Given the description of an element on the screen output the (x, y) to click on. 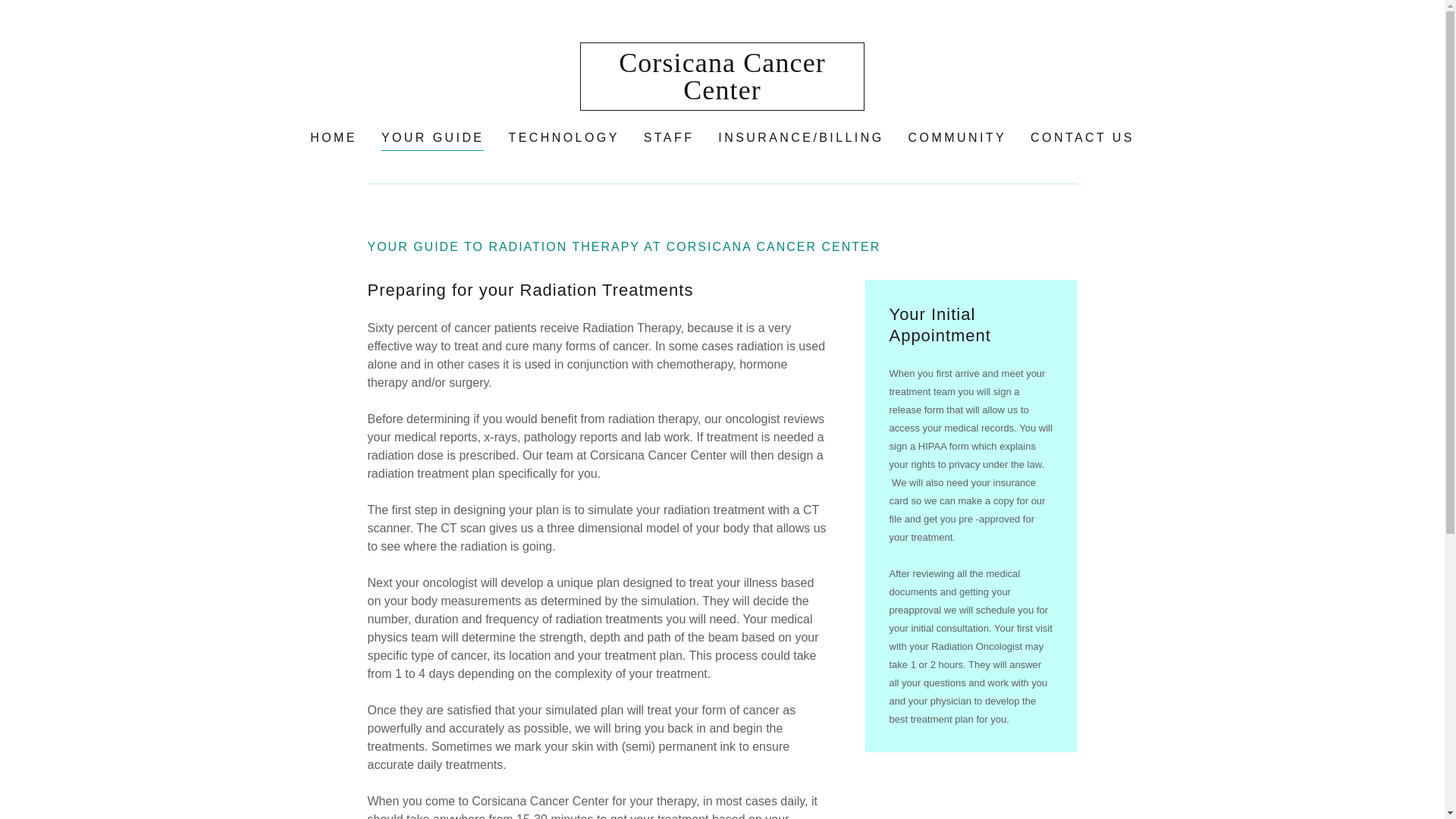
TECHNOLOGY (563, 137)
CONTACT US (1082, 137)
YOUR GUIDE (432, 139)
HOME (333, 137)
STAFF (668, 137)
COMMUNITY (957, 137)
Corsicana Cancer Center  (721, 76)
Corsicana Cancer Center (721, 76)
